Given the description of an element on the screen output the (x, y) to click on. 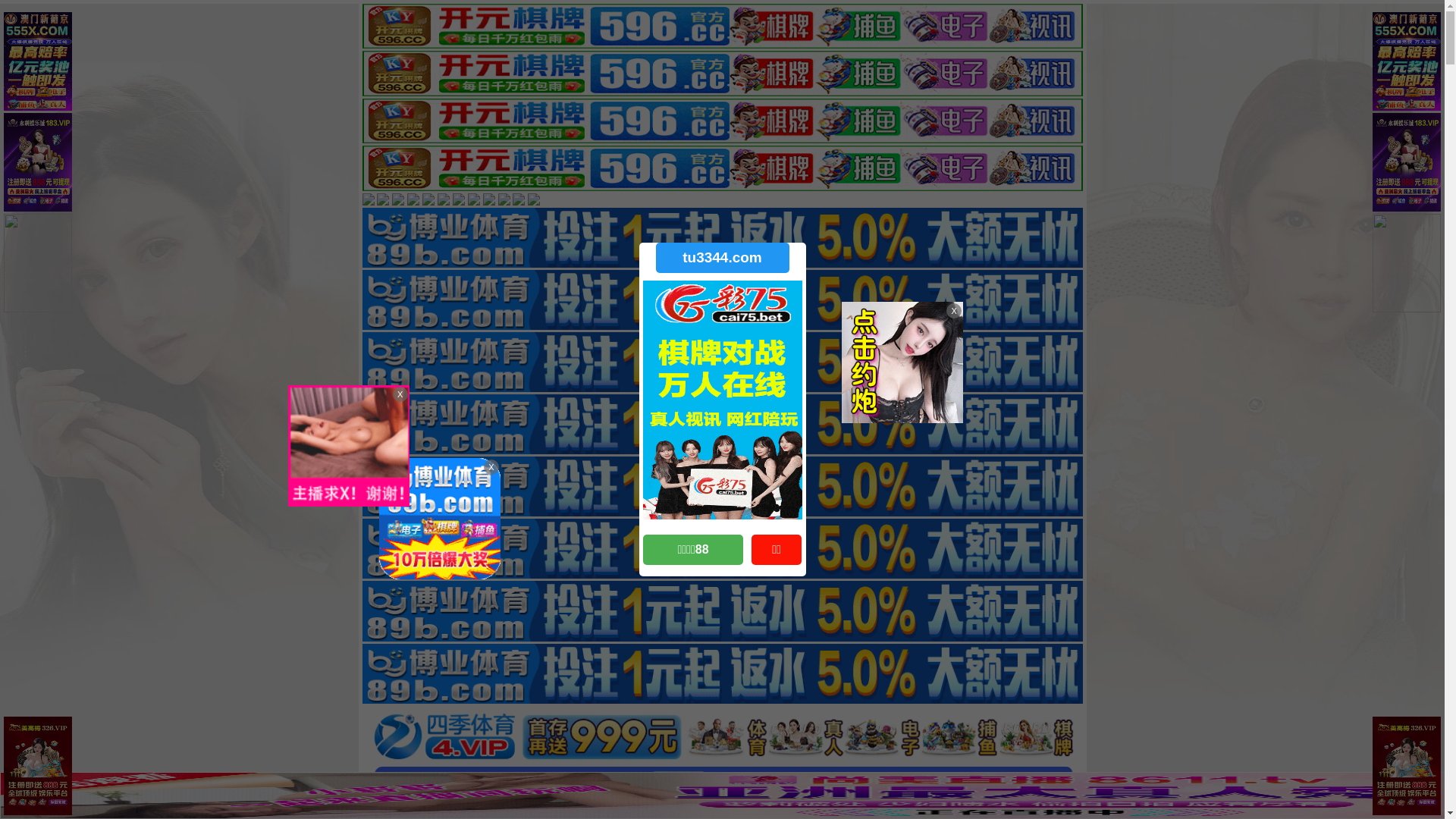
tu3344.com Element type: text (721, 257)
X Element type: text (1430, 789)
